Given the description of an element on the screen output the (x, y) to click on. 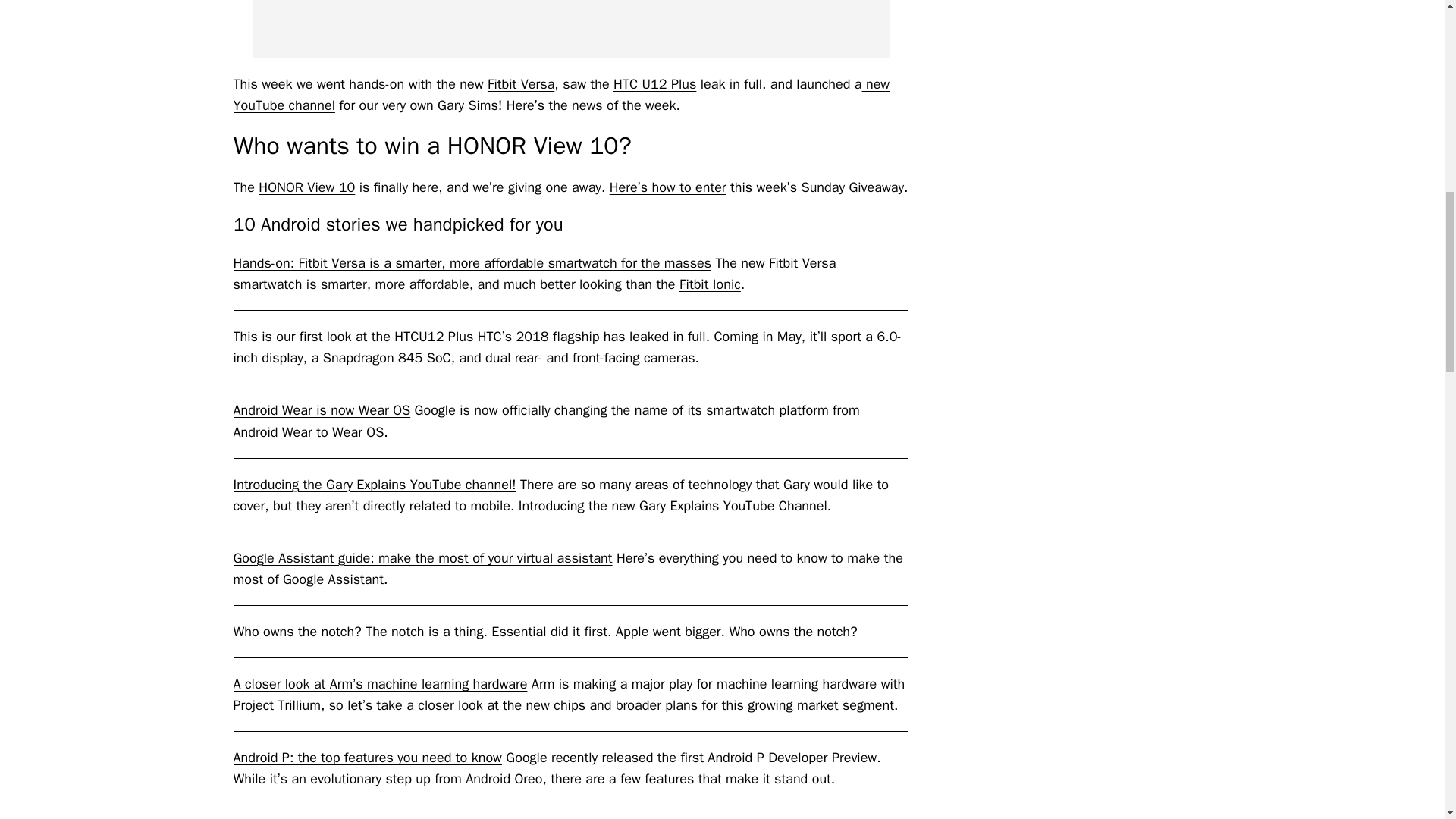
Android Oreo (503, 778)
Who owns the notch? (296, 631)
Android Wear is now Wear OS (321, 410)
Fitbit Versa hands on AA 9 (569, 29)
Android P: the top features you need to know (367, 757)
Introducing the Gary Explains YouTube channel! (374, 484)
new YouTube channel (560, 94)
Gary Explains YouTube Channel (733, 505)
HTC U12 Plus (653, 84)
